Given the description of an element on the screen output the (x, y) to click on. 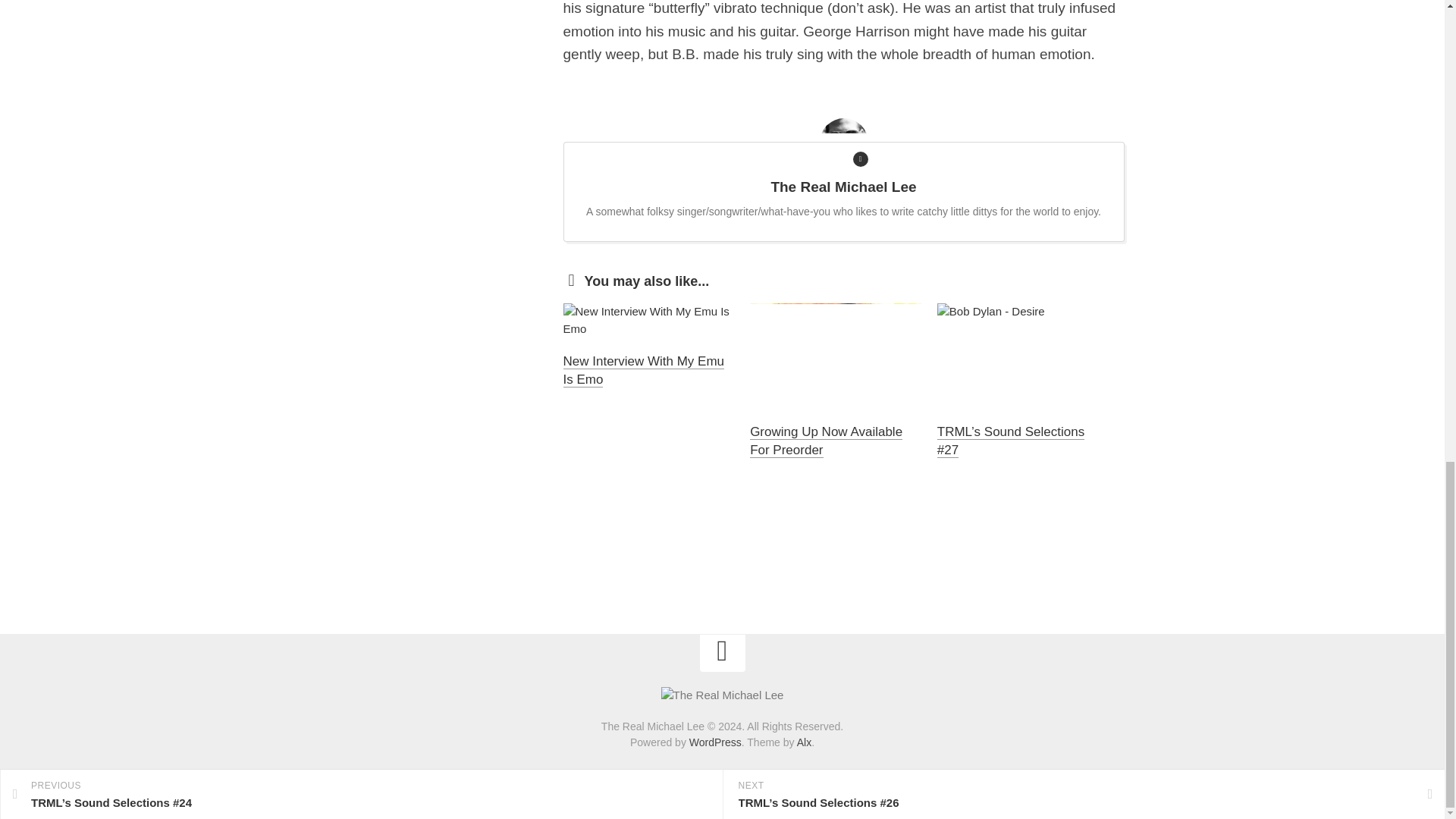
Alx (803, 742)
New Interview With My Emu Is Emo (642, 369)
WordPress (714, 742)
Growing Up Now Available For Preorder (825, 441)
